Given the description of an element on the screen output the (x, y) to click on. 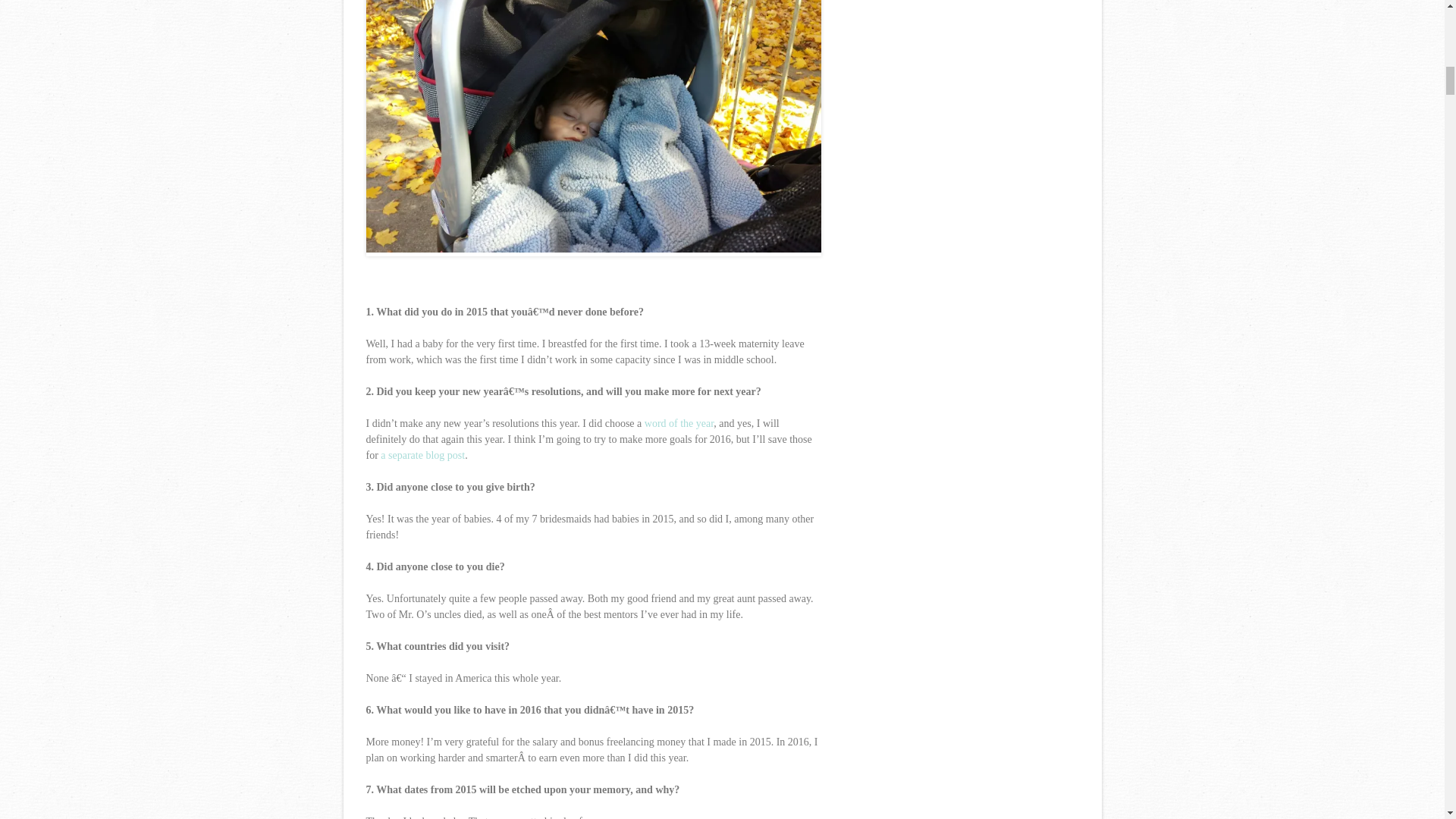
word of the year (679, 423)
a separate blog post (422, 455)
